Given the description of an element on the screen output the (x, y) to click on. 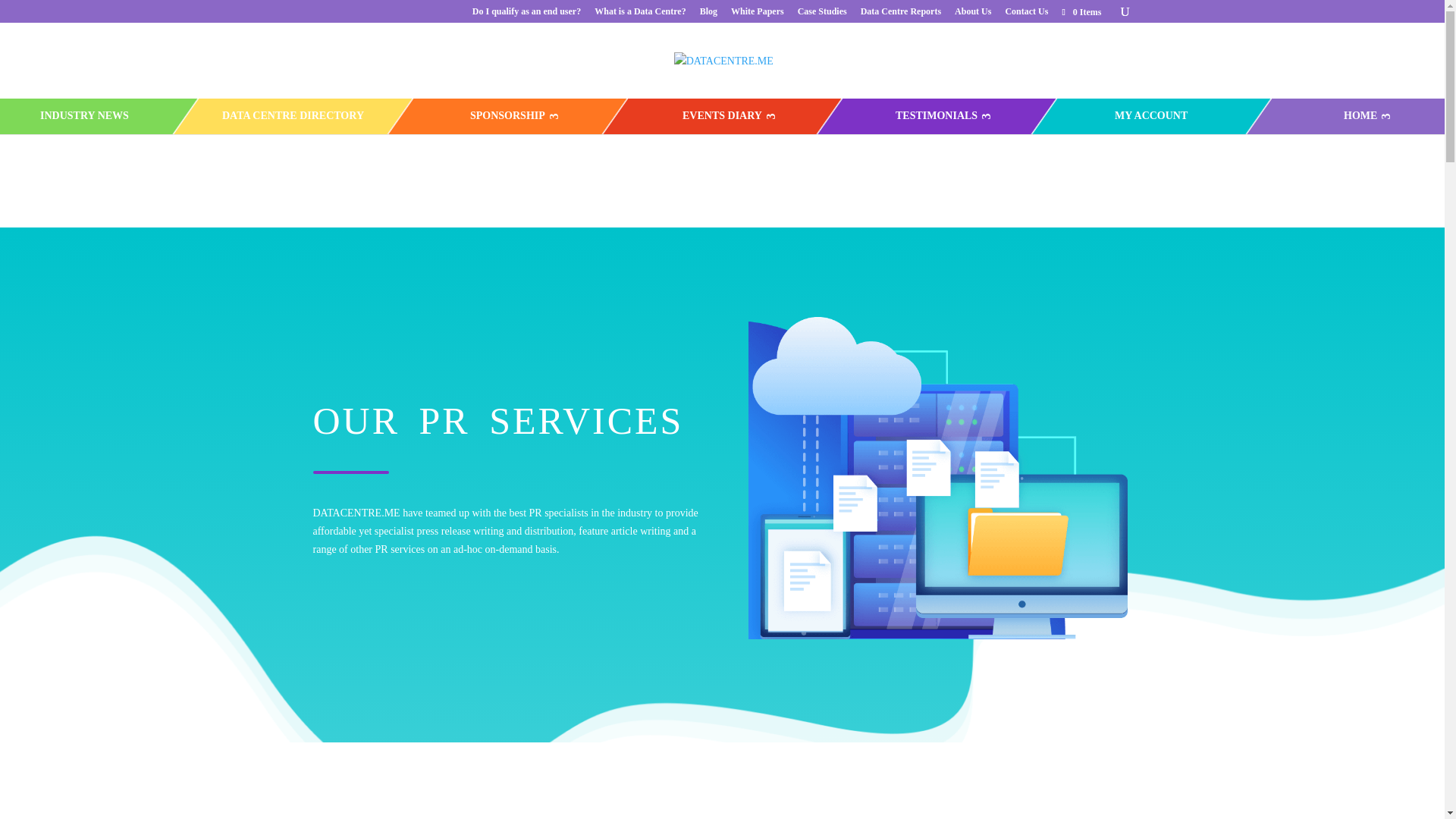
MY ACCOUNT (1150, 116)
Do I qualify as an end user? (525, 14)
What is a Data Centre? (639, 14)
DATA CENTRE DIRECTORY (292, 116)
Case Studies (822, 14)
Blog (708, 14)
Contact Us (1026, 14)
EVENTS DIARY (721, 116)
White Papers (757, 14)
INDUSTRY NEWS (83, 116)
HOME (1359, 116)
About Us (973, 14)
SPONSORSHIP (507, 116)
Data Centre Reports (900, 14)
0 Items (1079, 11)
